Given the description of an element on the screen output the (x, y) to click on. 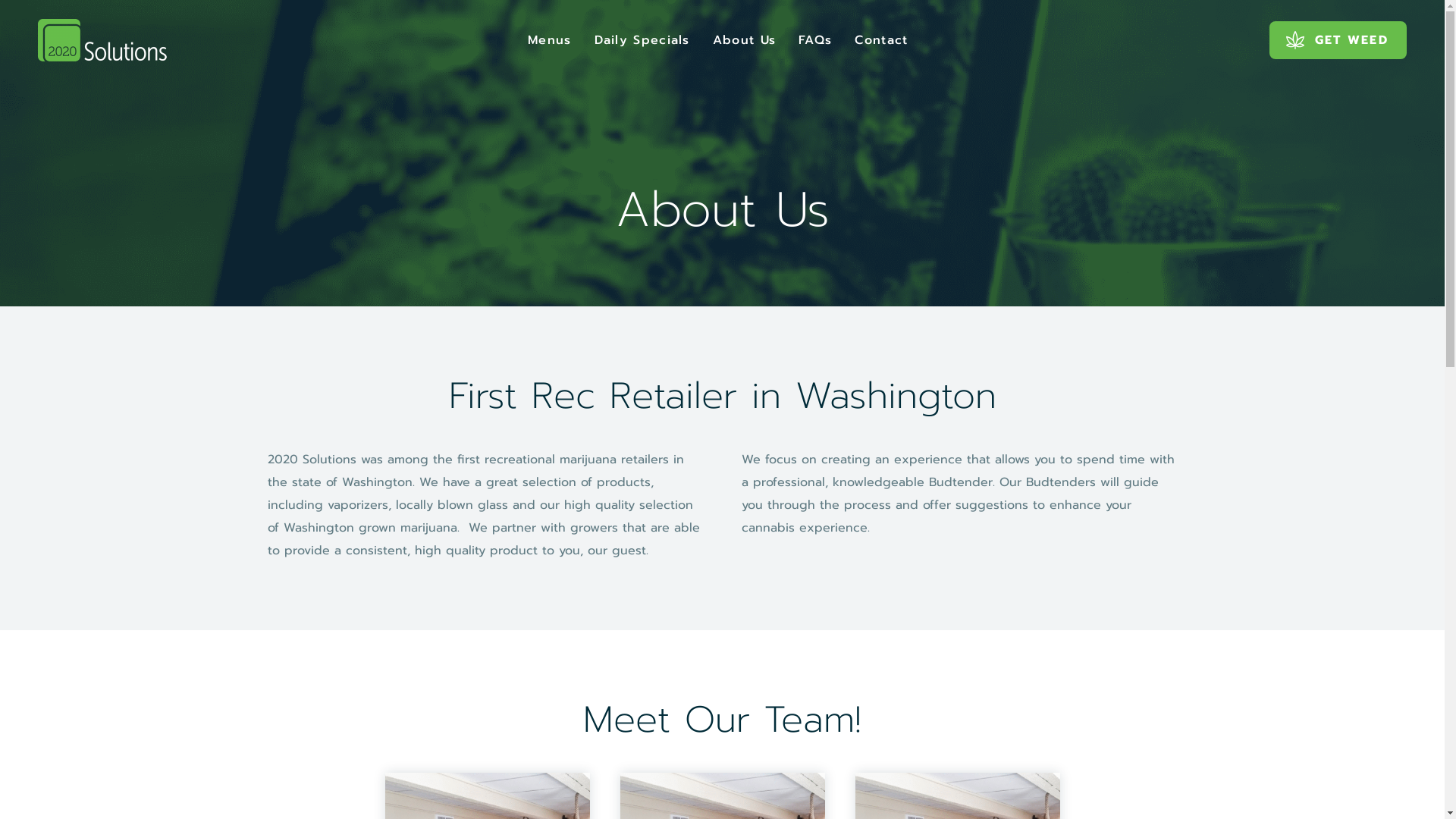
Daily Specials Element type: text (642, 40)
About Us Element type: text (744, 40)
Skip to content Element type: text (0, 0)
GET WEED Element type: text (1337, 40)
Menus Element type: text (549, 40)
FAQs Element type: text (815, 40)
home Element type: text (101, 39)
Contact Element type: text (881, 40)
